Given the description of an element on the screen output the (x, y) to click on. 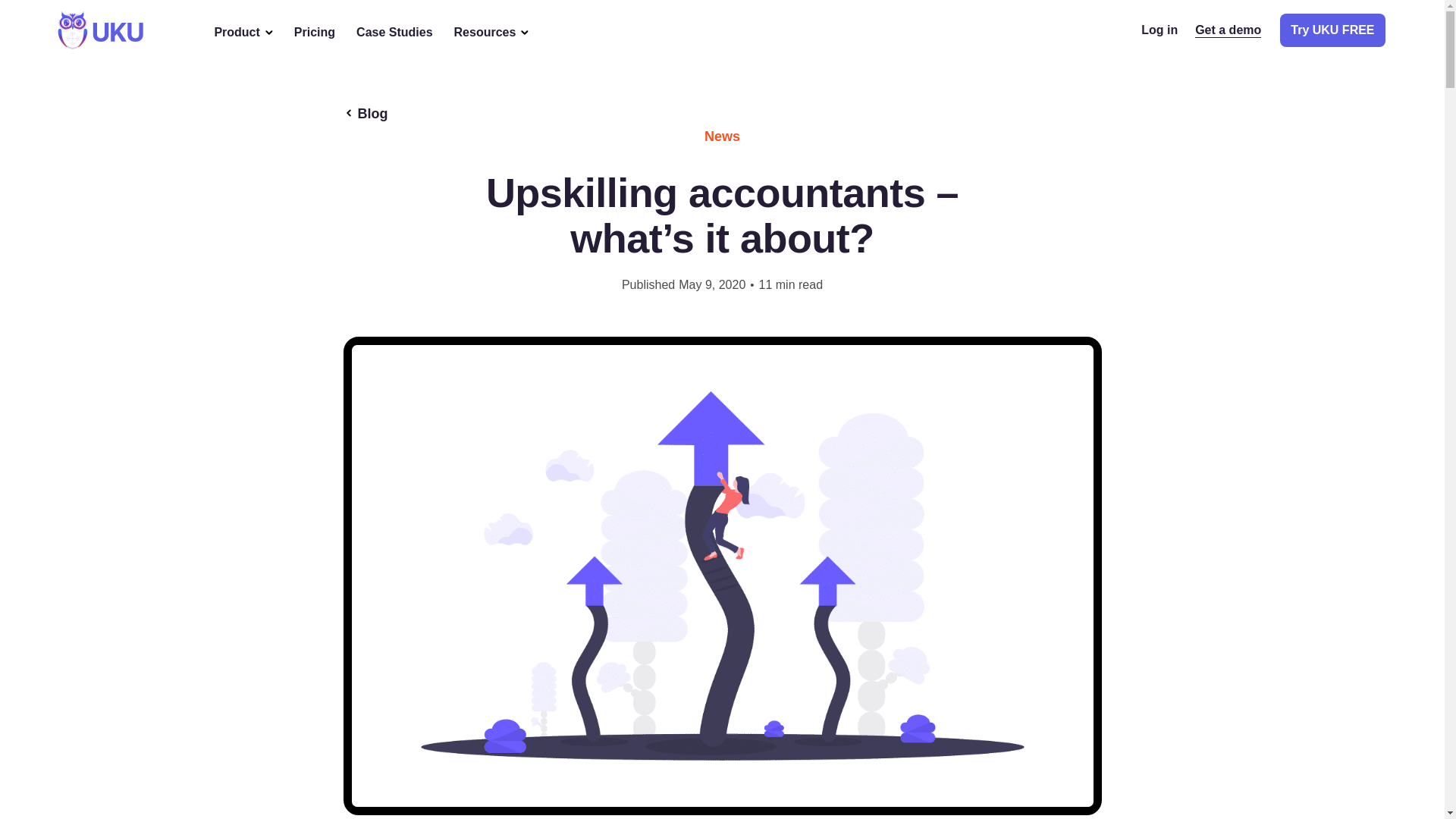
Get a demo (1227, 29)
Pricing (314, 31)
Case Studies (394, 31)
Try UKU FREE (1331, 29)
Log in (1159, 29)
uku-logo (100, 30)
